Given the description of an element on the screen output the (x, y) to click on. 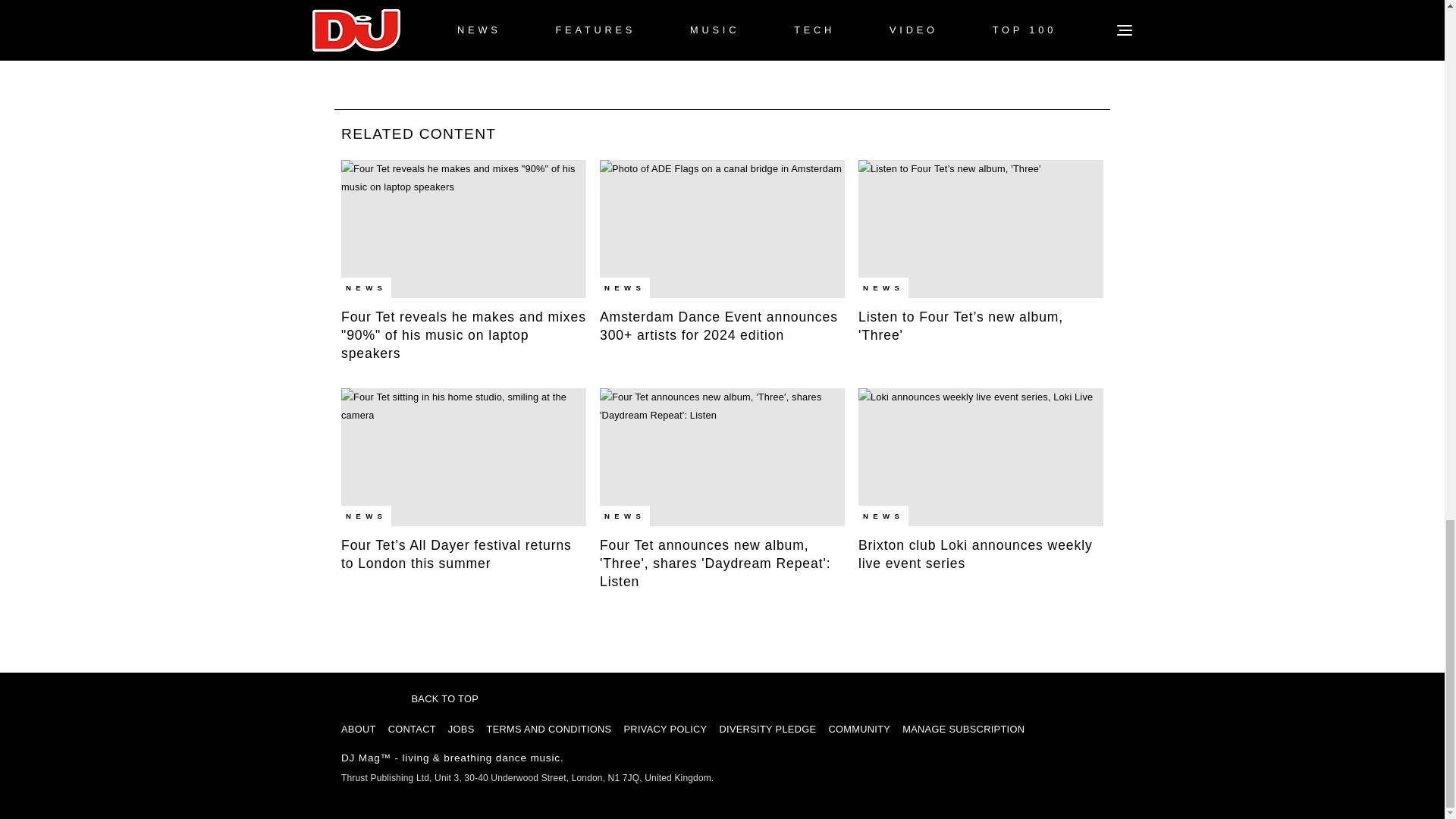
DjMag (362, 691)
